Given the description of an element on the screen output the (x, y) to click on. 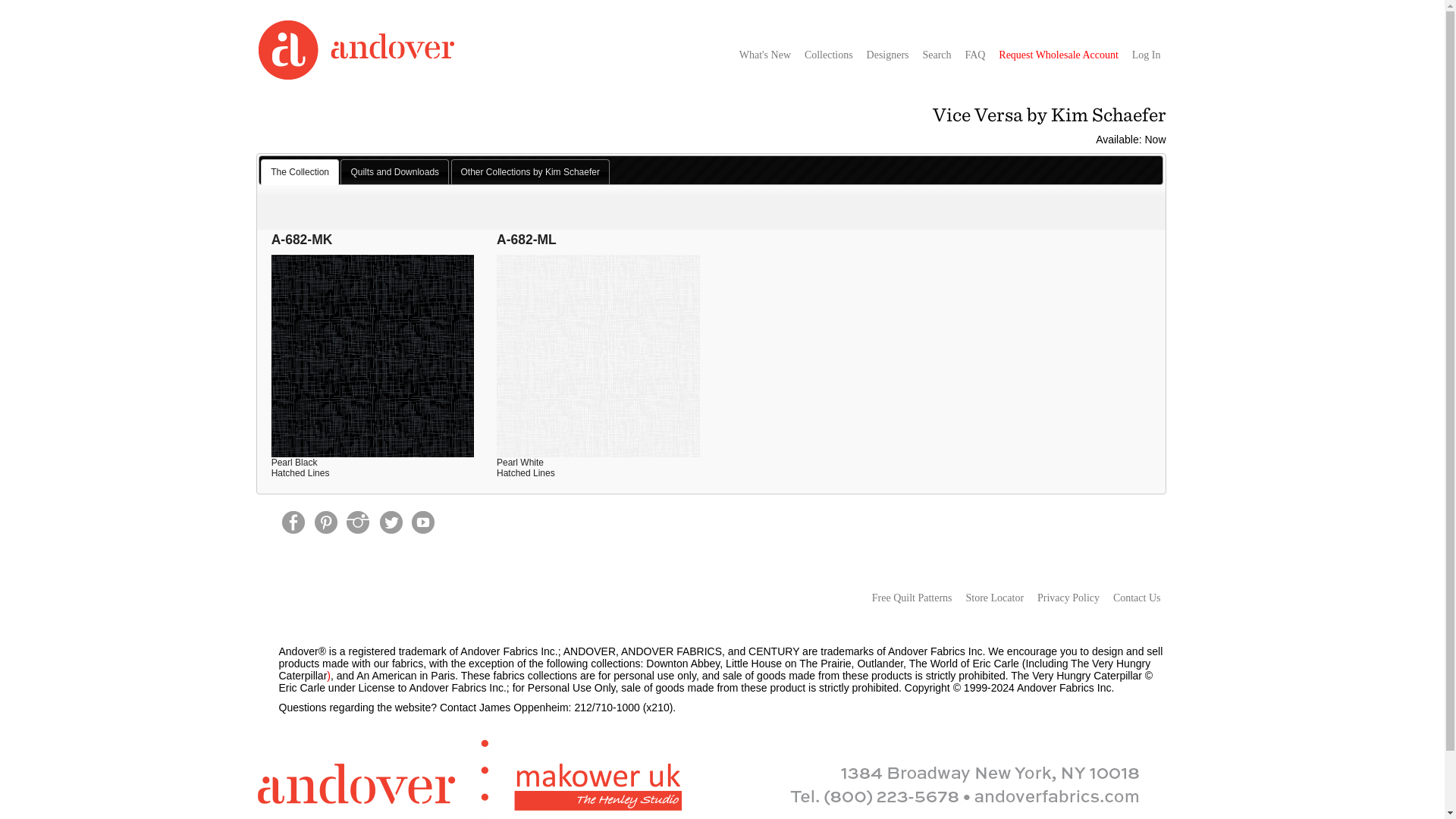
Request Wholesale Account (1058, 55)
Quilts and Downloads (394, 171)
Other Collections by Kim Schaefer (529, 171)
Log In (1146, 55)
Privacy Policy (1067, 598)
Search (935, 55)
The Collection (299, 171)
A-682-MK (372, 296)
Collections (829, 55)
What's New (764, 55)
A-682-ML (598, 296)
A-682-ML (598, 296)
Free Quilt Patterns (912, 598)
Store Locator (994, 598)
FAQ (974, 55)
